Given the description of an element on the screen output the (x, y) to click on. 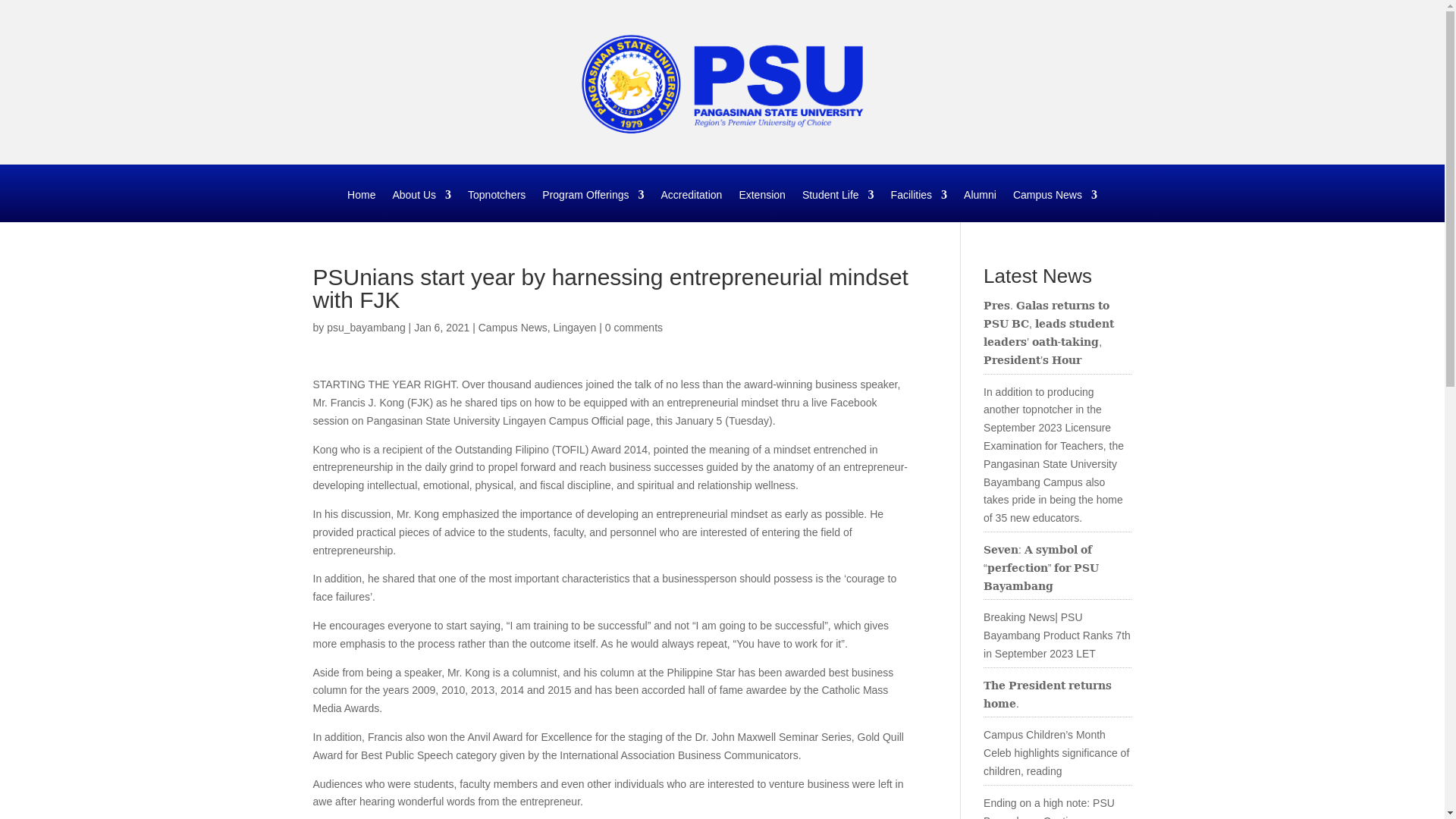
Student Life (838, 205)
About Us (421, 205)
Program Offerings (592, 205)
Alumni (979, 205)
Extension (761, 205)
Accreditation (691, 205)
Facilities (919, 205)
Topnotchers (496, 205)
Campus News (1055, 205)
